Given the description of an element on the screen output the (x, y) to click on. 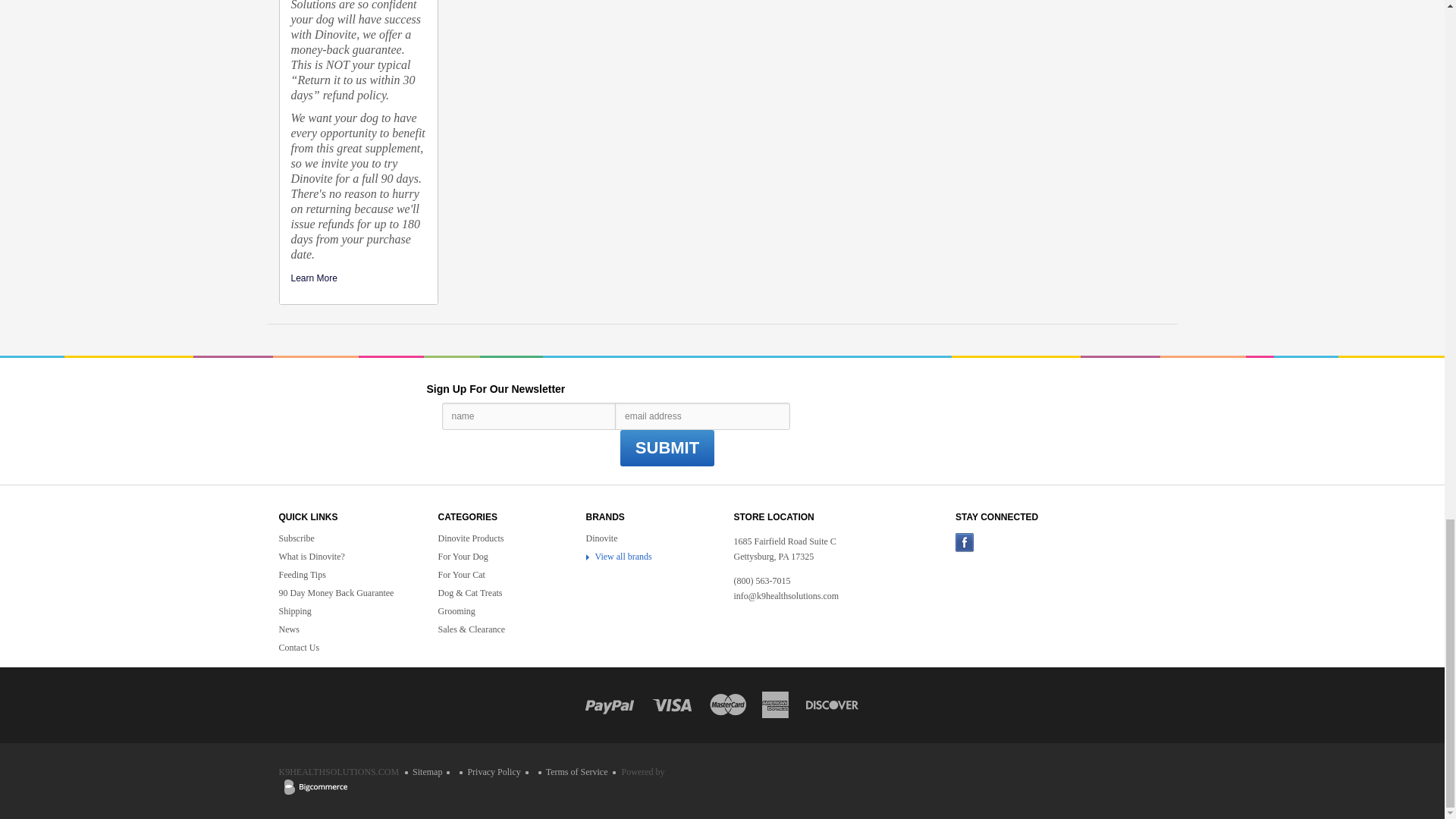
email address (702, 416)
Submit (667, 447)
Facebook (970, 548)
Name (528, 416)
